Given the description of an element on the screen output the (x, y) to click on. 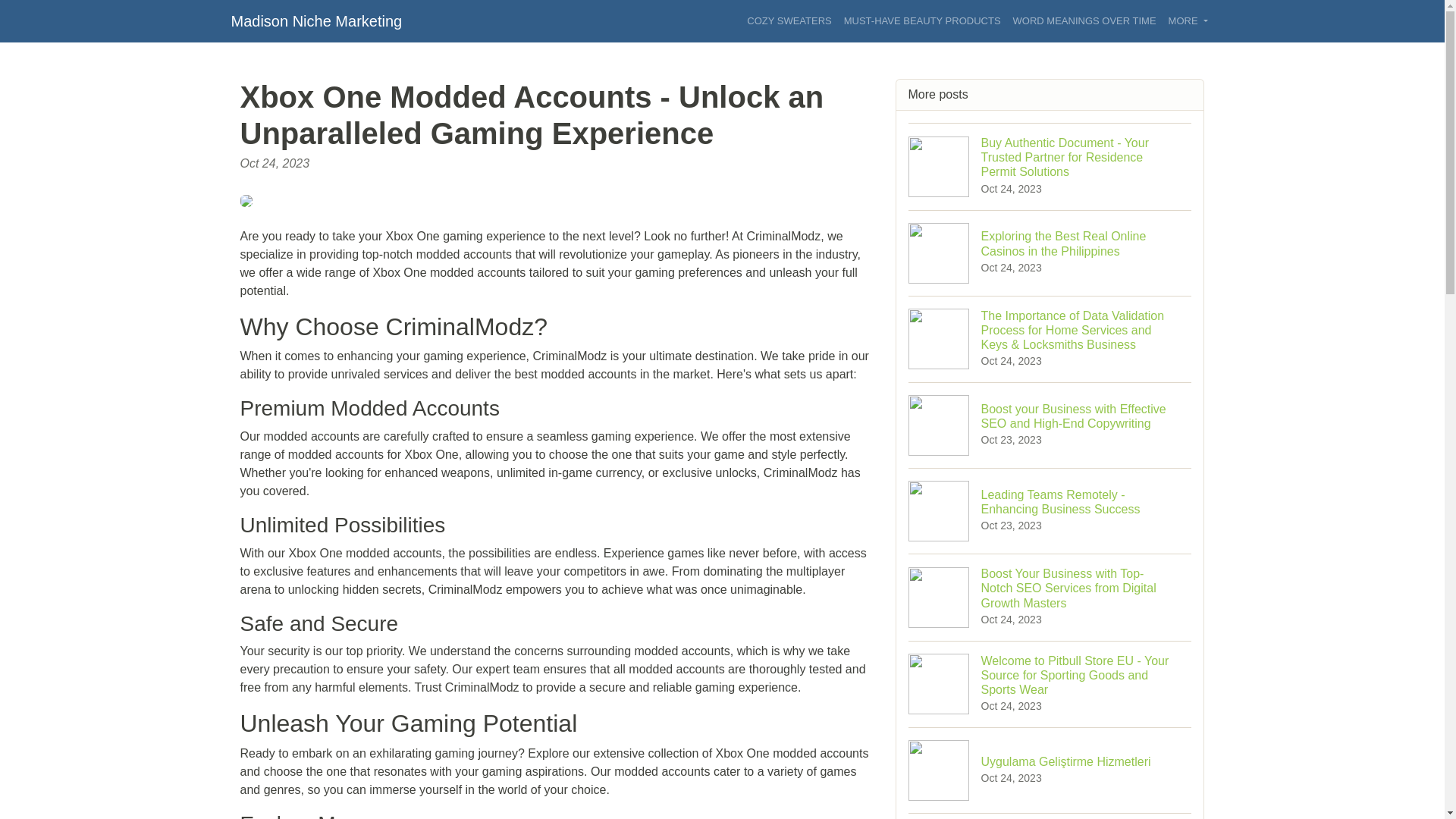
WORD MEANINGS OVER TIME (1084, 21)
Madison Niche Marketing (315, 20)
MORE (1187, 21)
COZY SWEATERS (789, 21)
MUST-HAVE BEAUTY PRODUCTS (922, 21)
